Given the description of an element on the screen output the (x, y) to click on. 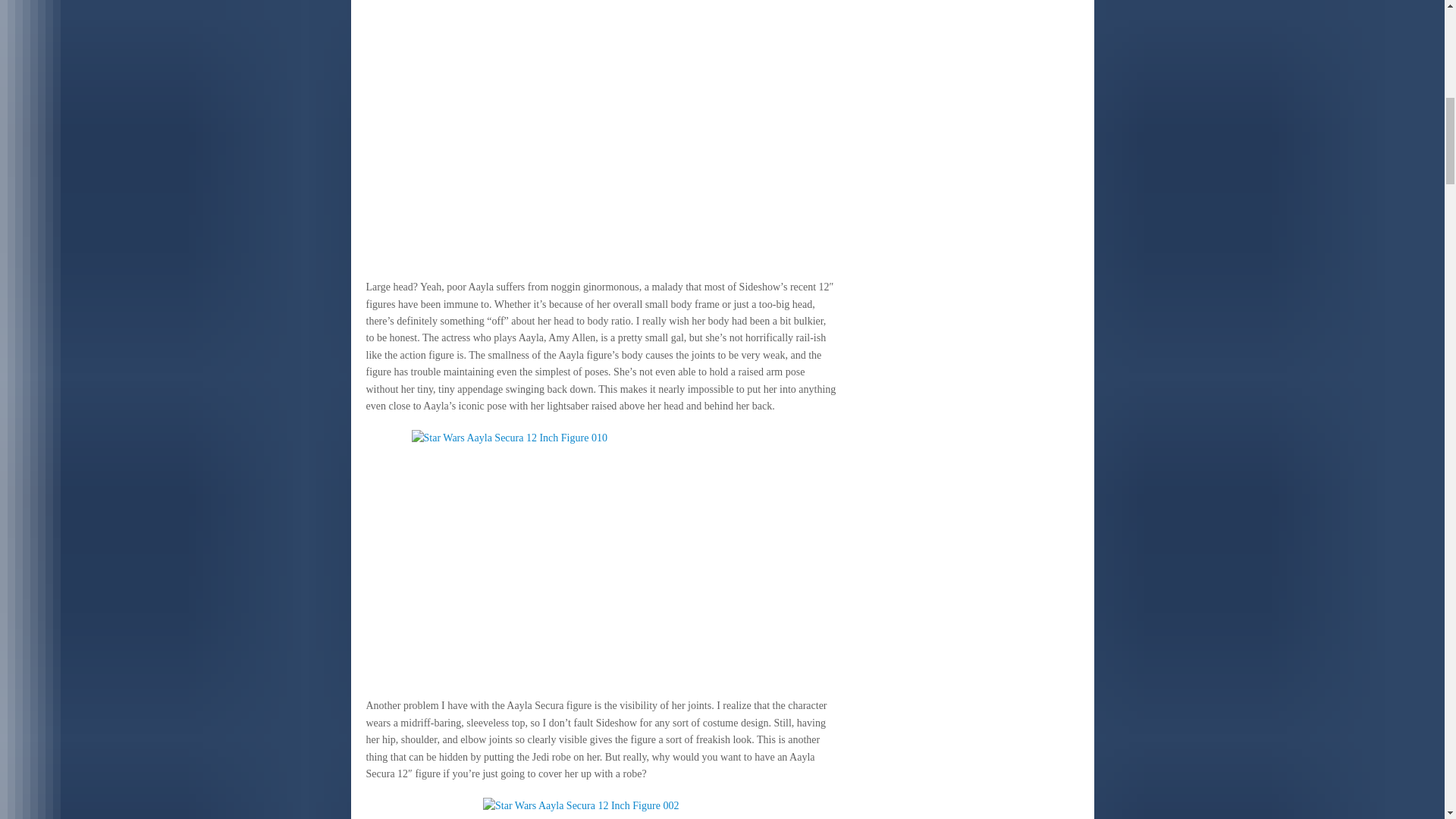
Star Wars Aayla Secura 12 Inch Figure 010 (600, 555)
Star Wars Aayla Secura 12 Inch Figure 002 (600, 808)
Star Wars Aayla Secura 12 Inch Figure 011 (600, 131)
